Given the description of an element on the screen output the (x, y) to click on. 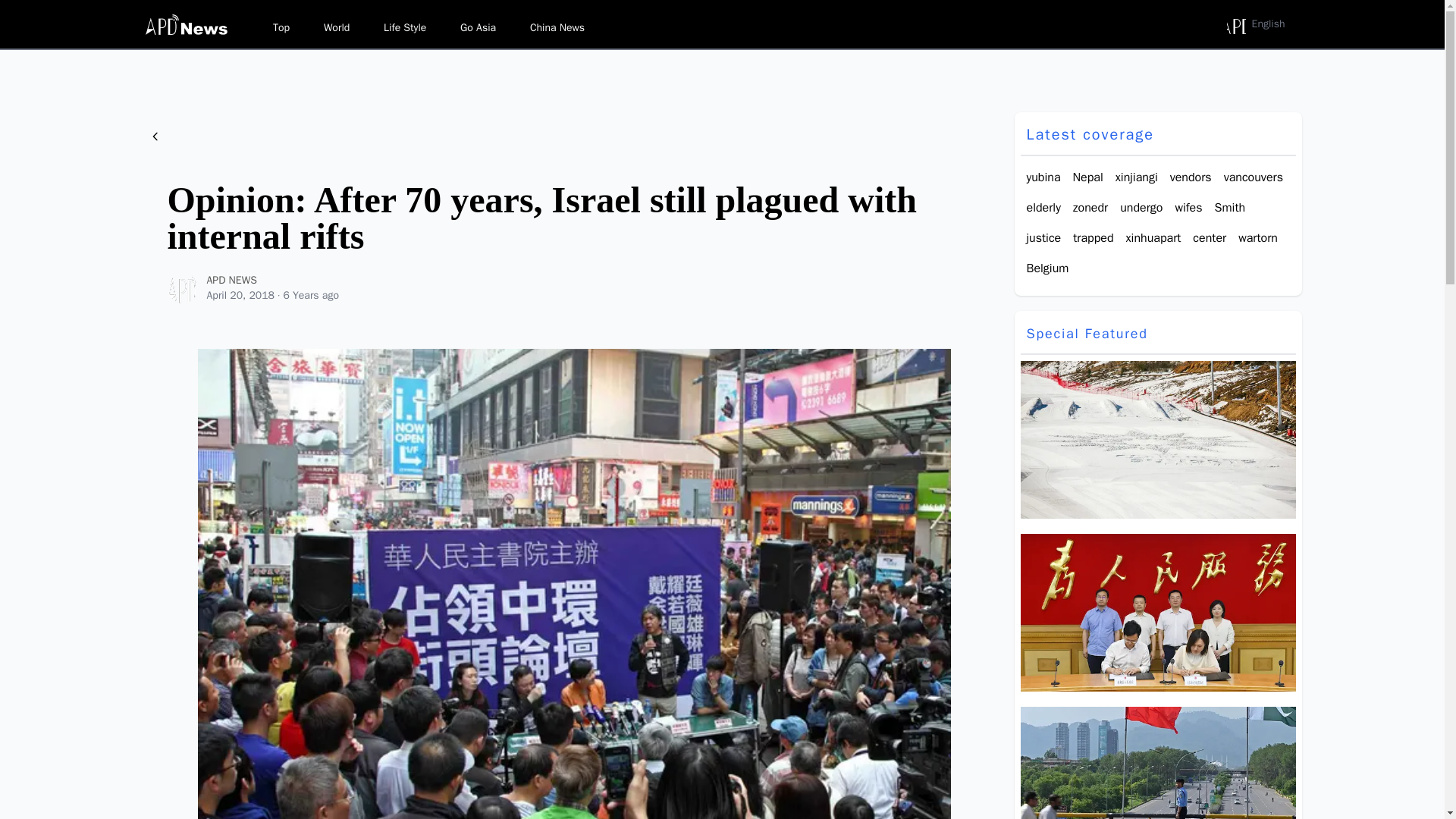
xinjiangi (1136, 177)
Smith (1230, 208)
Smith (1230, 208)
World (336, 27)
wartorn (1258, 238)
APD NEWS (181, 287)
Nepal (1088, 177)
wifes (1188, 208)
Belgium (1047, 268)
China News (557, 27)
wifes (1188, 208)
vendors (1190, 177)
APD NEWS (181, 287)
yubina (1043, 177)
